Given the description of an element on the screen output the (x, y) to click on. 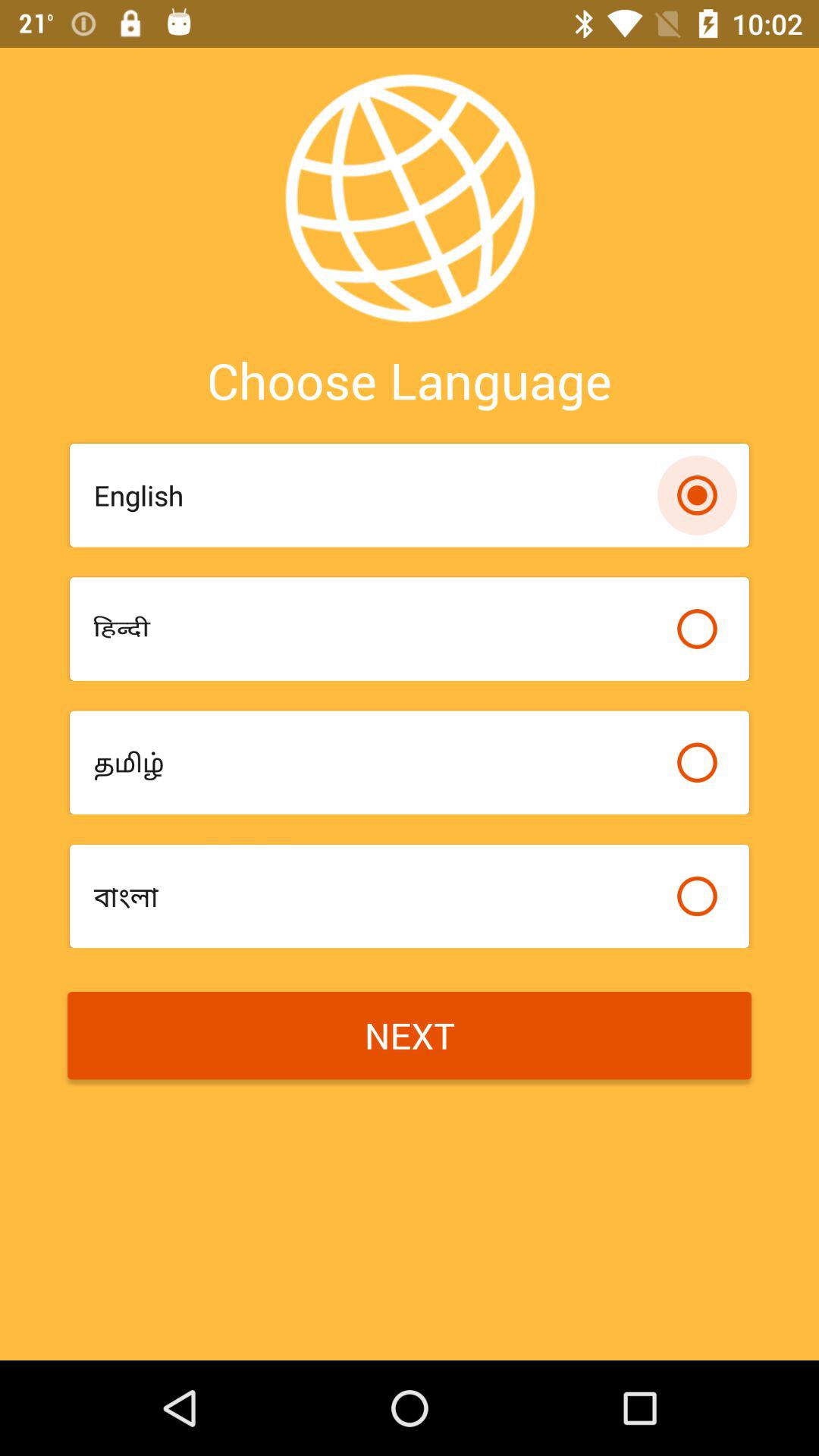
turn on the english (377, 495)
